Given the description of an element on the screen output the (x, y) to click on. 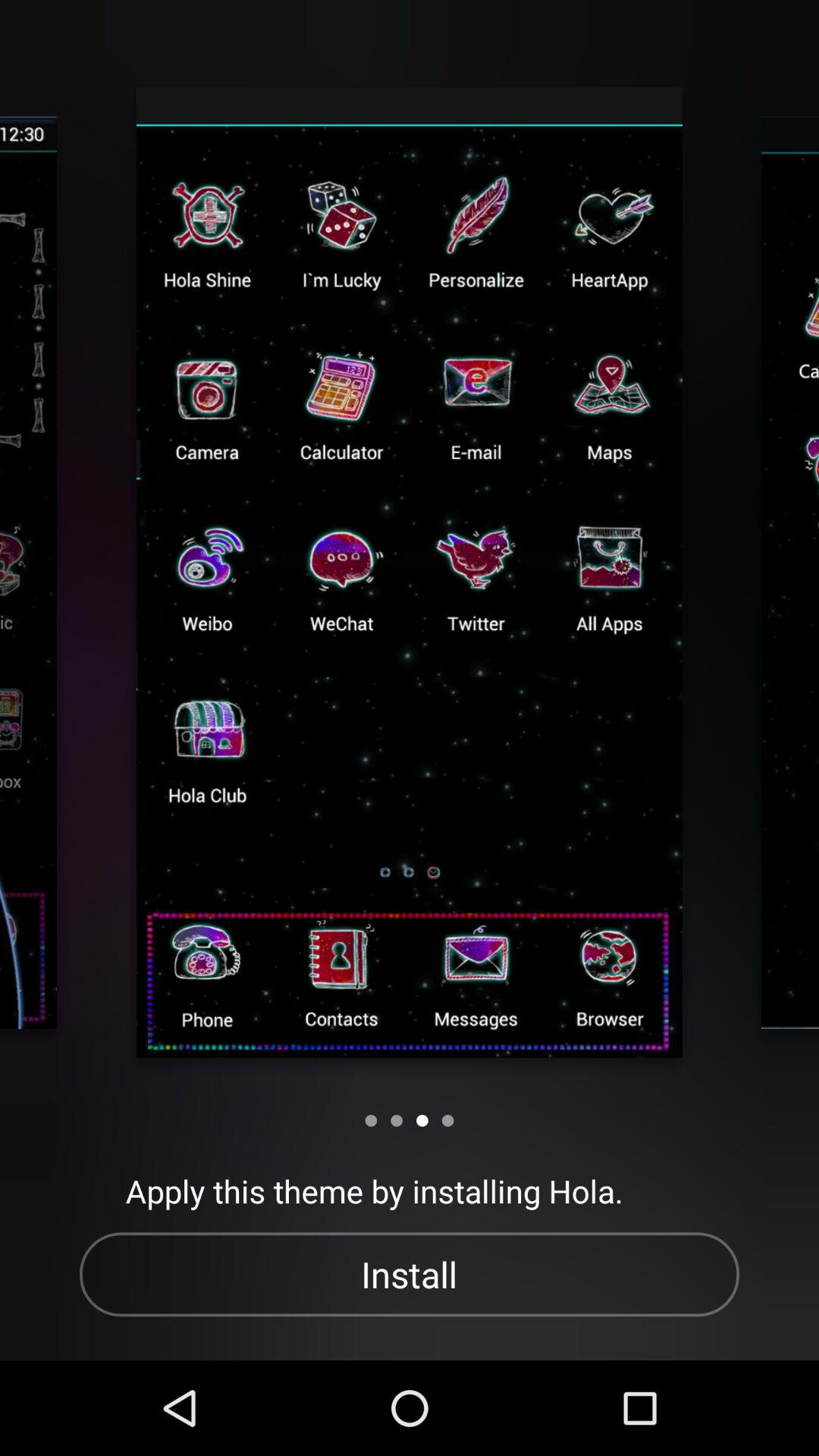
tap app above the apply this theme (447, 1120)
